Given the description of an element on the screen output the (x, y) to click on. 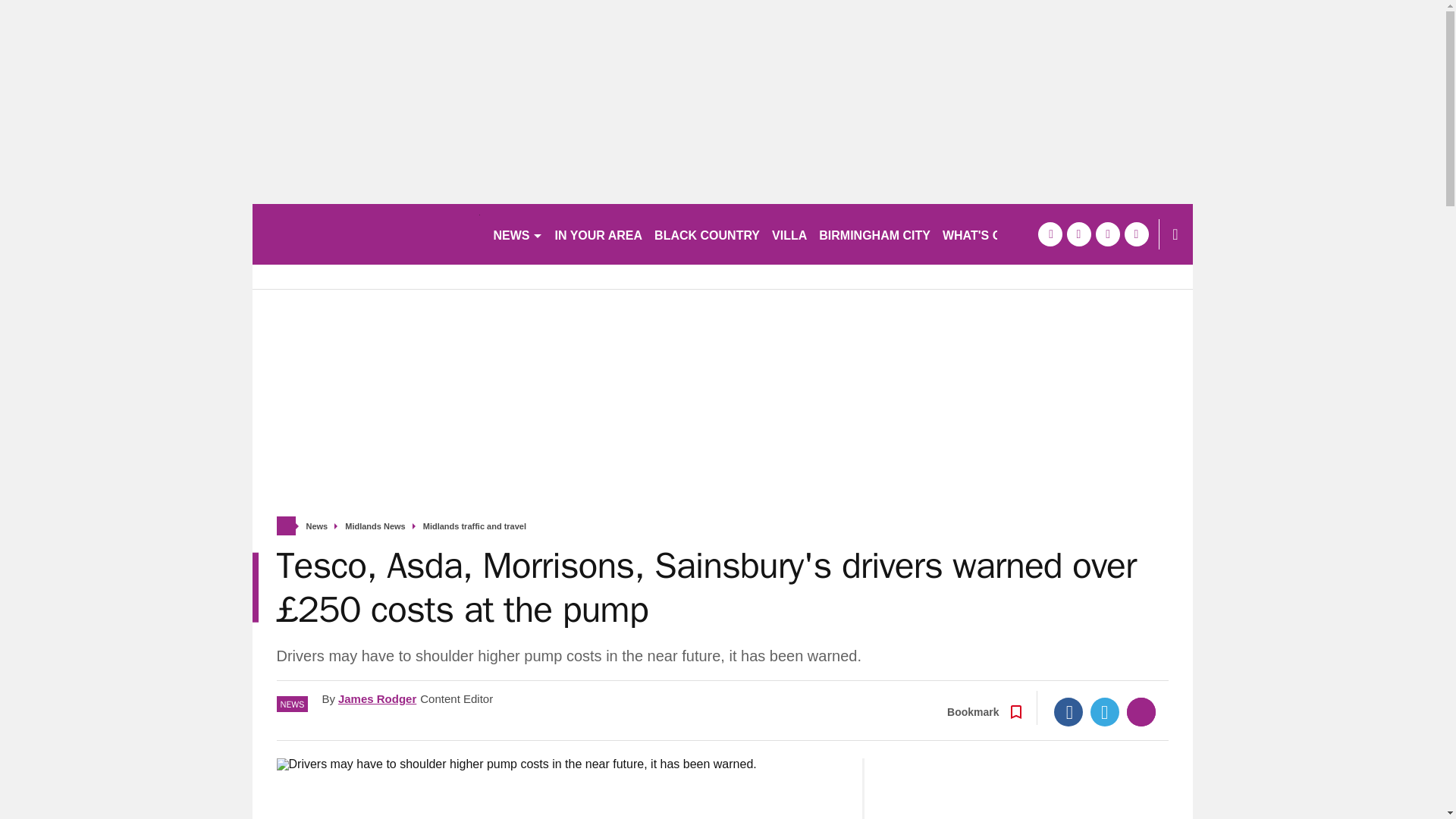
birminghammail (365, 233)
Twitter (1104, 711)
instagram (1136, 233)
Facebook (1068, 711)
tiktok (1106, 233)
BIRMINGHAM CITY (874, 233)
BLACK COUNTRY (706, 233)
twitter (1077, 233)
IN YOUR AREA (598, 233)
NEWS (517, 233)
facebook (1048, 233)
VILLA (788, 233)
WHAT'S ON (982, 233)
